Given the description of an element on the screen output the (x, y) to click on. 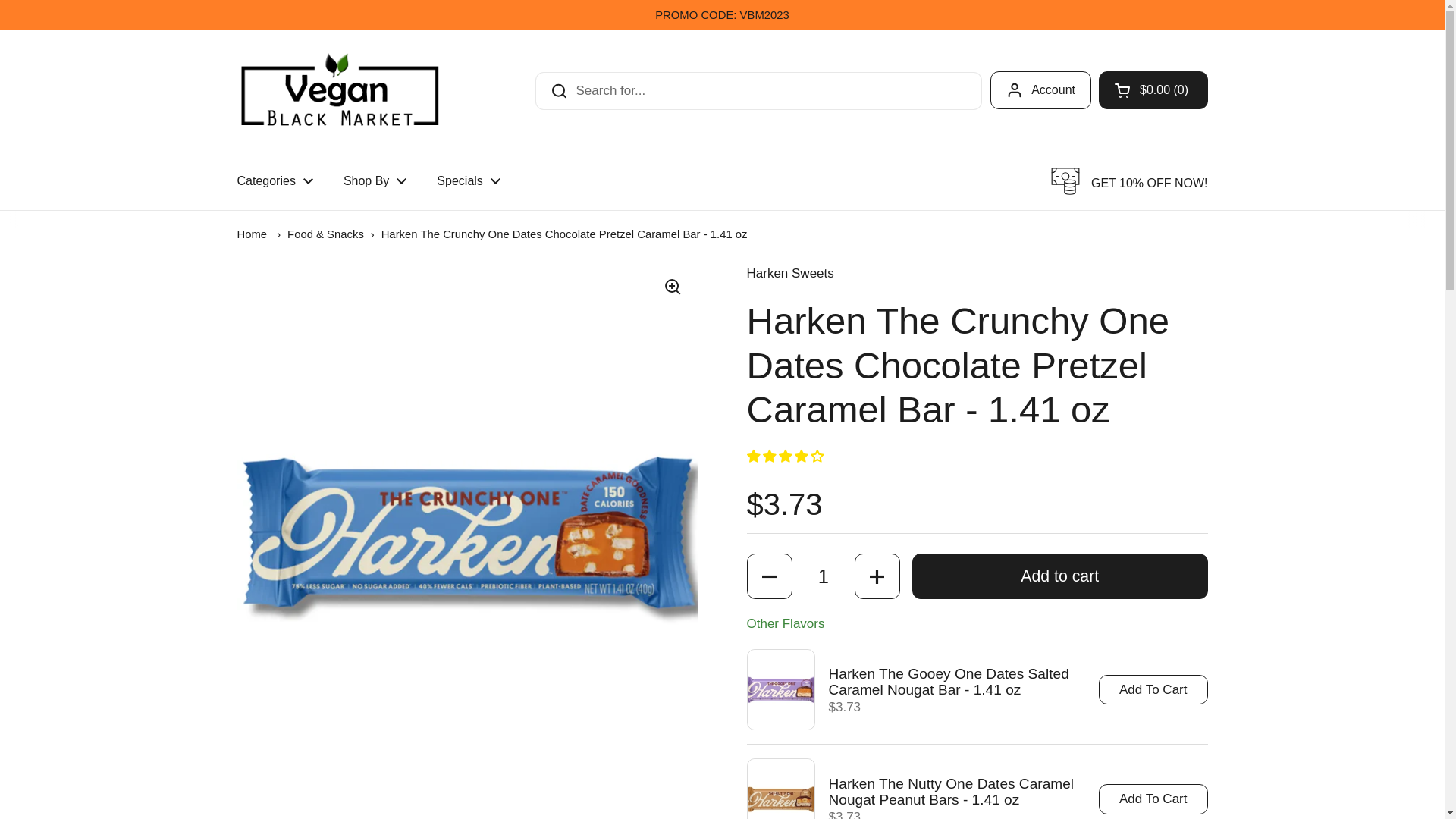
Open cart (1153, 89)
Account (1040, 89)
1 (822, 575)
Vegan Black Market (338, 90)
Categories (274, 181)
Categories (274, 181)
